Given the description of an element on the screen output the (x, y) to click on. 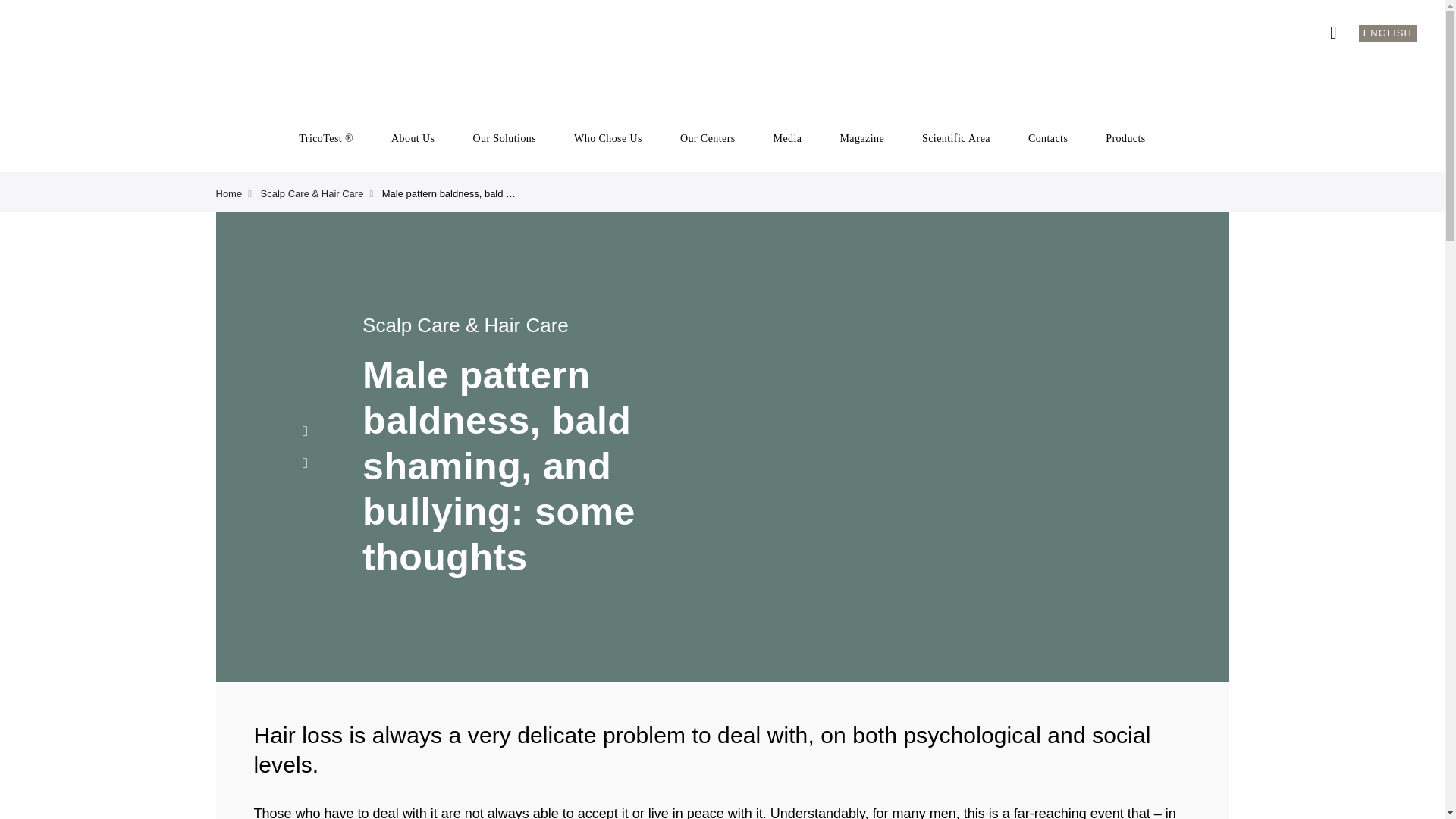
ENGLISH (1387, 33)
Go to Home Page (228, 193)
About Us (412, 139)
